Given the description of an element on the screen output the (x, y) to click on. 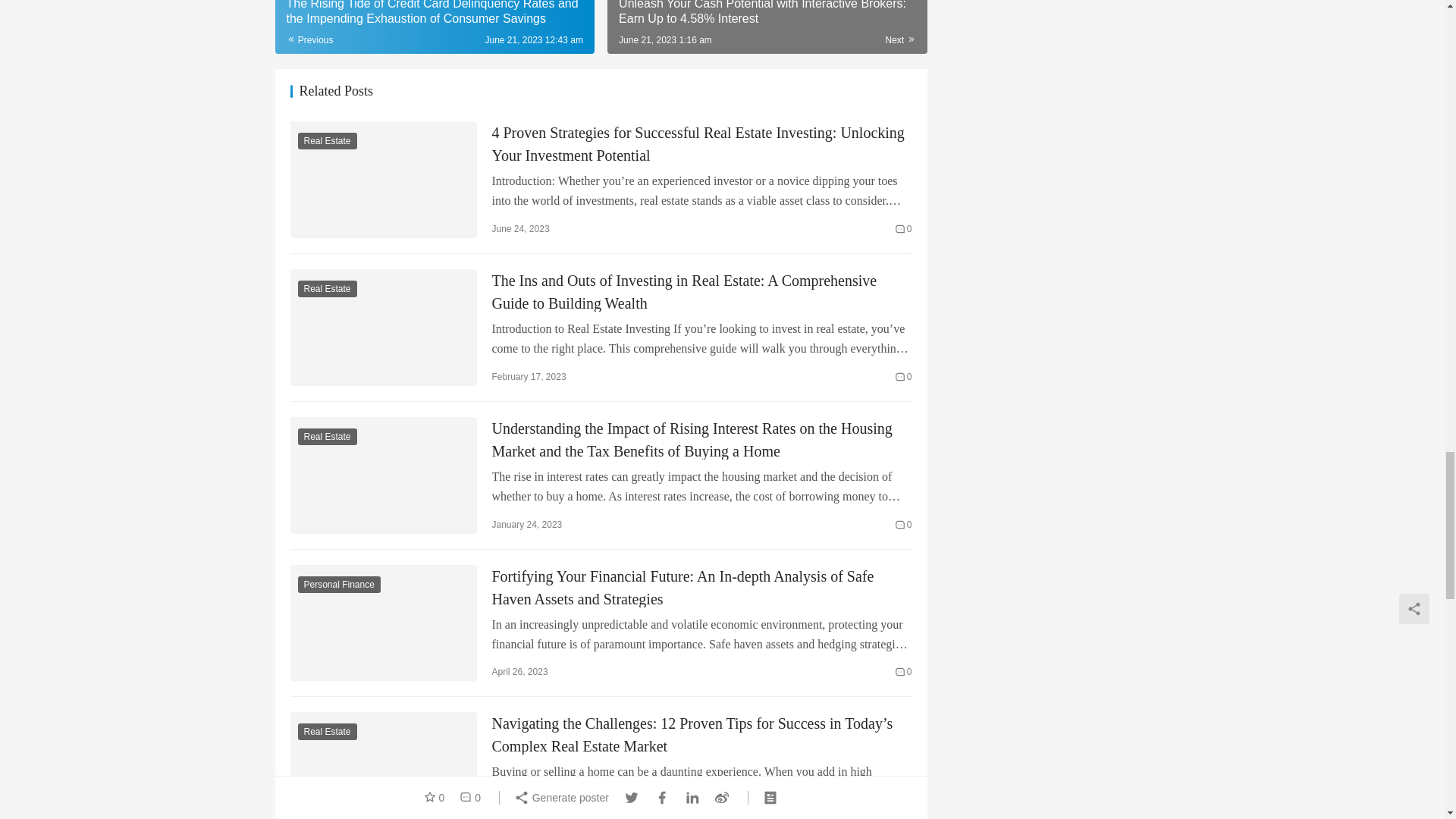
Comments (903, 229)
Comments (903, 376)
